Given the description of an element on the screen output the (x, y) to click on. 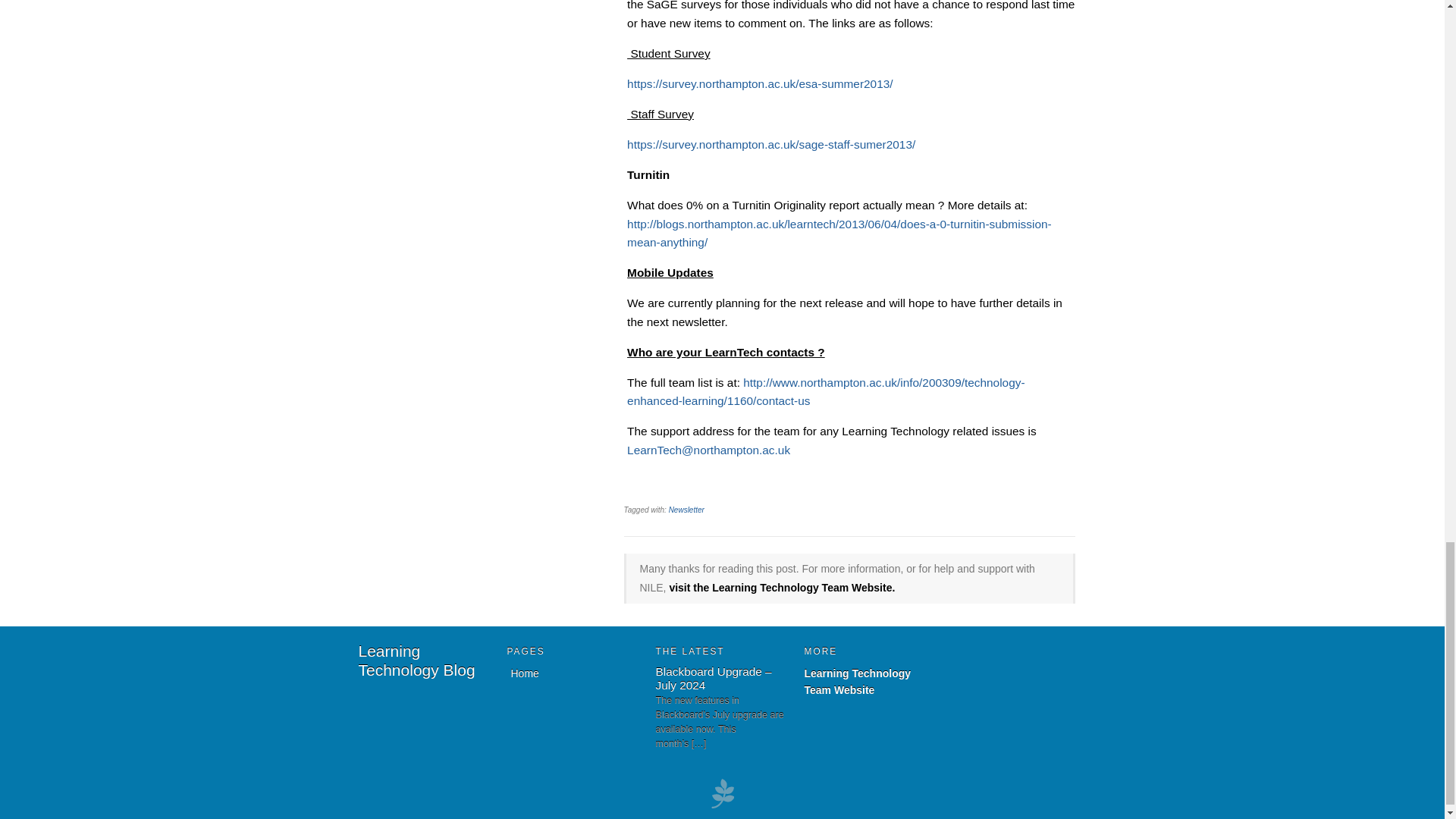
Newsletter (686, 510)
Platform by PageLines (722, 806)
Home (416, 660)
visit the Learning Technology Team Website. (781, 587)
